Given the description of an element on the screen output the (x, y) to click on. 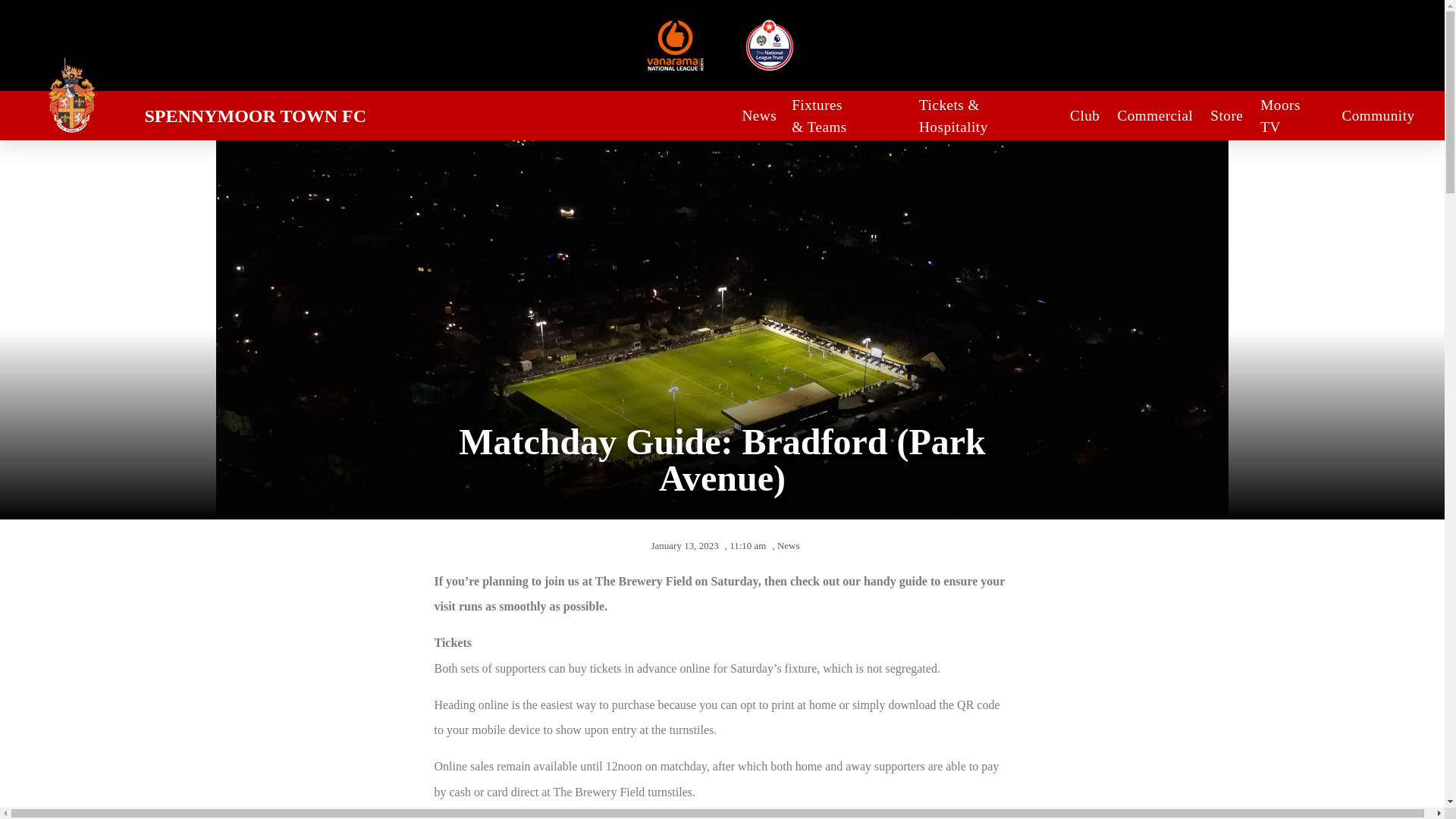
1North (675, 45)
SPENNYMOOR TOWN FC (254, 116)
News (758, 116)
